Given the description of an element on the screen output the (x, y) to click on. 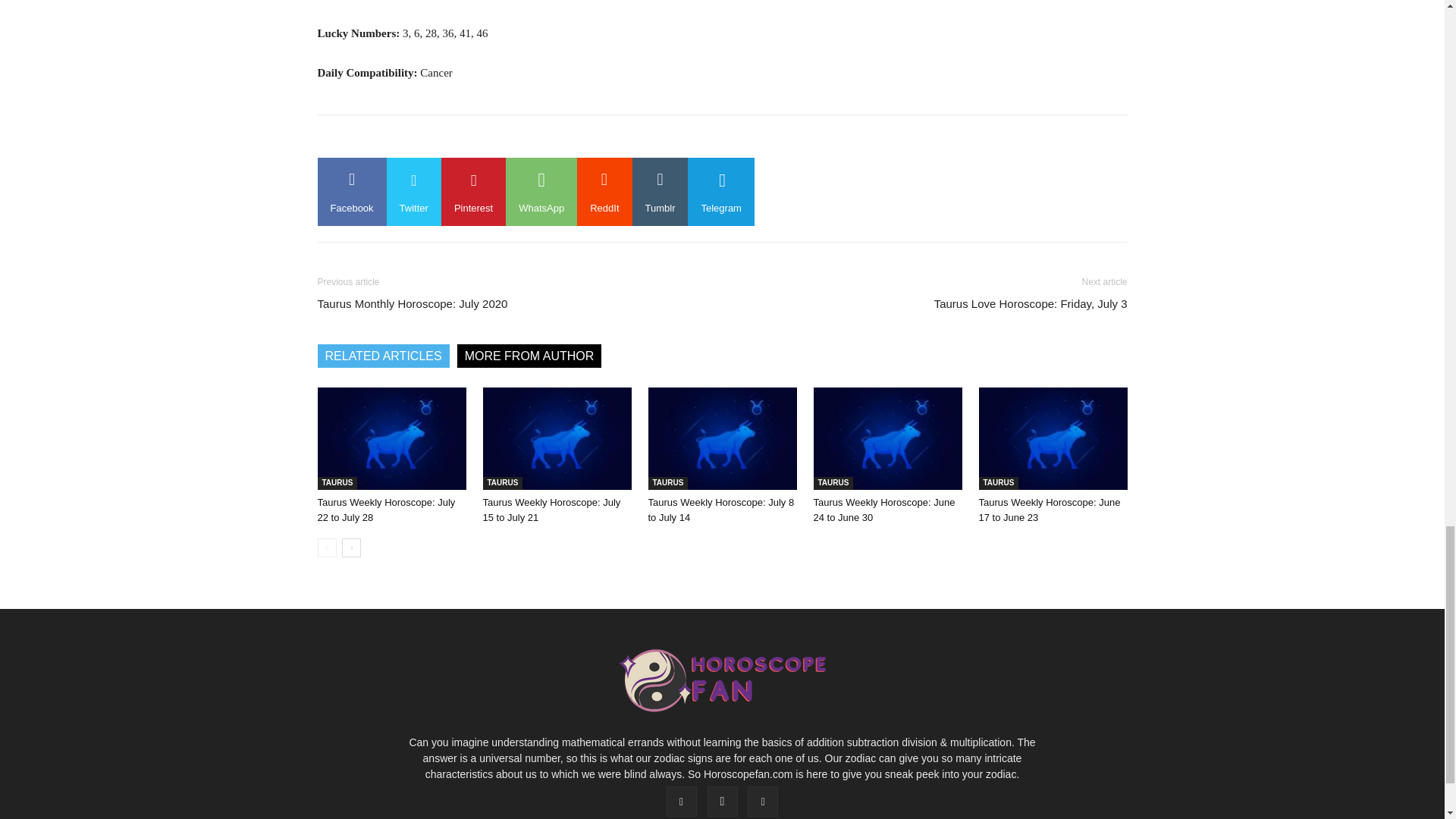
bottomFacebookLike (430, 139)
Facebook (351, 192)
